Given the description of an element on the screen output the (x, y) to click on. 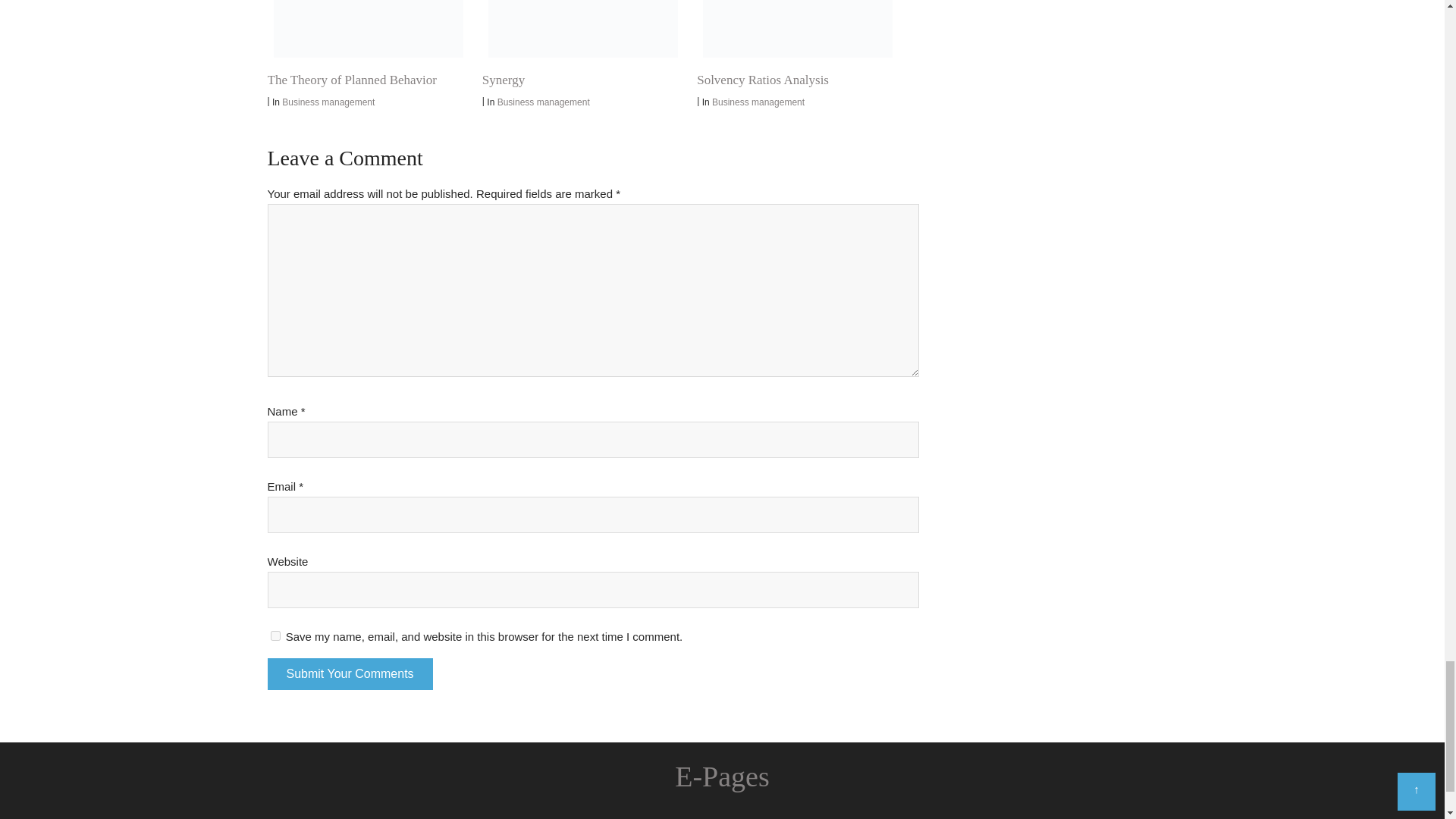
Business management (328, 102)
Synergy (582, 28)
yes (274, 635)
The Theory of Planned Behavior (367, 28)
Business management (758, 102)
E-Pages (722, 776)
Solvency Ratios Analysis (762, 79)
Submit Your Comments (349, 674)
The Theory of Planned Behavior (350, 79)
Solvency Ratios Analysis (797, 28)
